Given the description of an element on the screen output the (x, y) to click on. 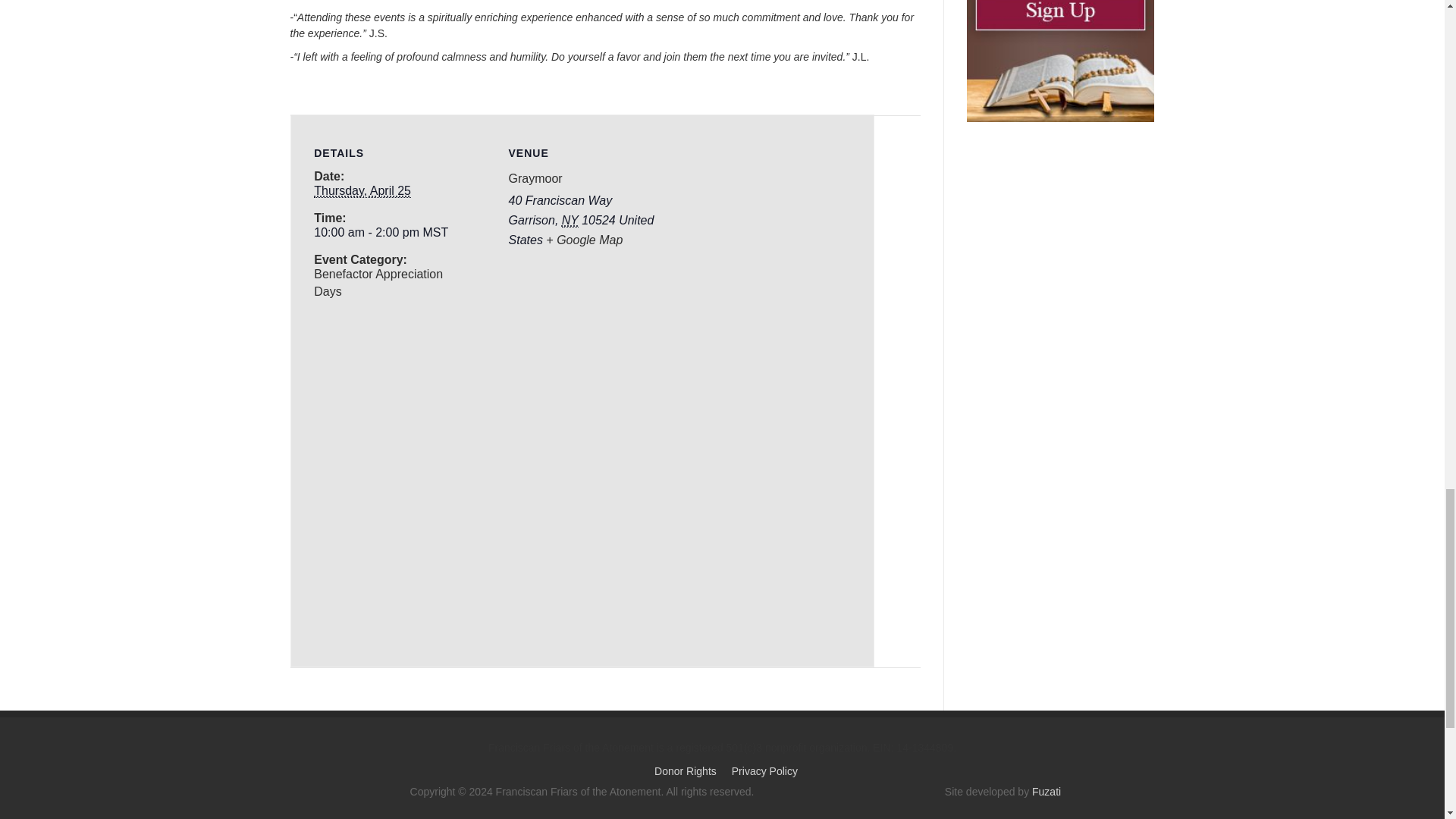
New York (570, 220)
2024-04-25 (362, 191)
2024-04-25 (387, 232)
Click to view a Google Map (584, 239)
